Given the description of an element on the screen output the (x, y) to click on. 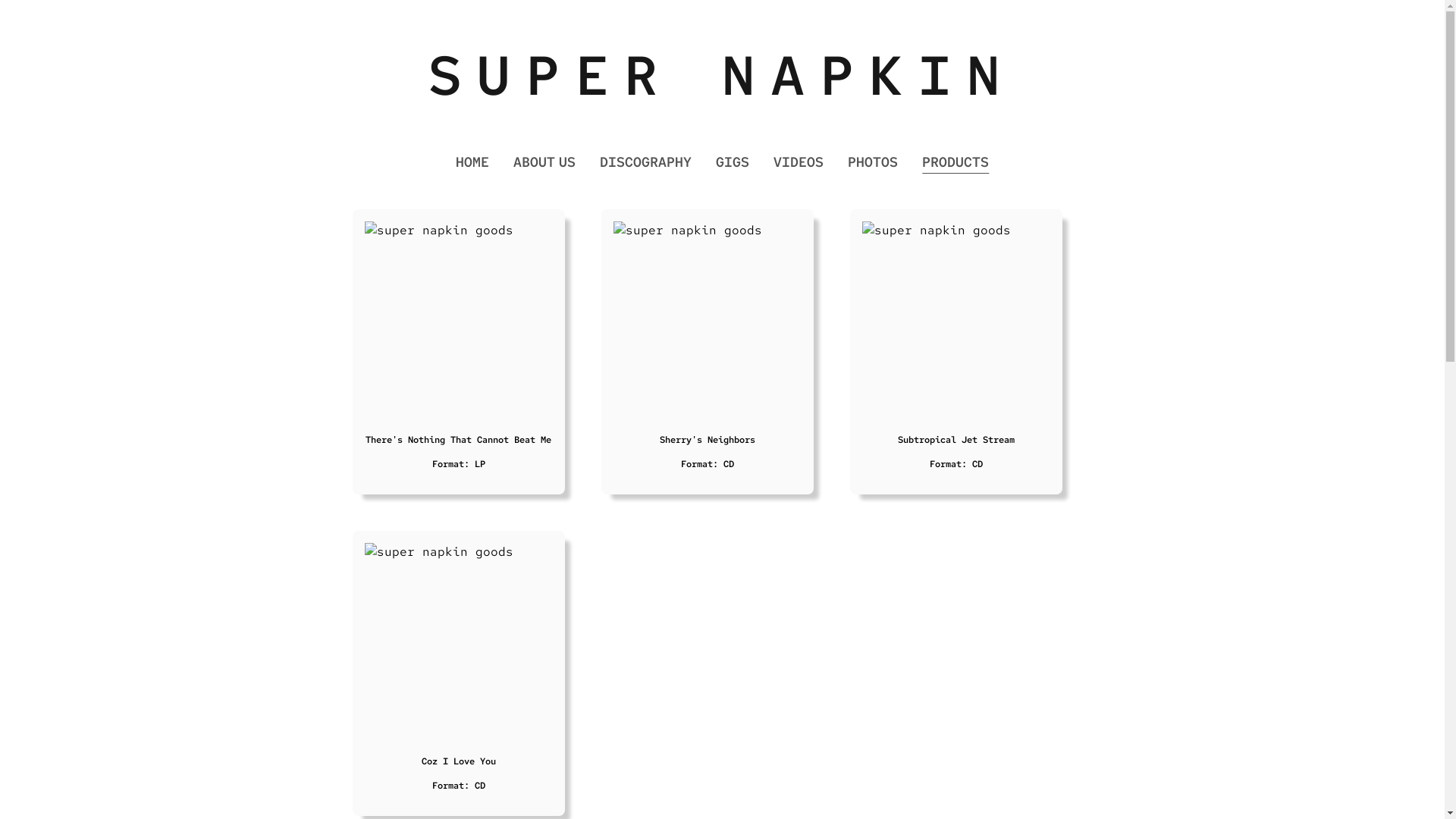
GIGS Element type: text (732, 162)
VIDEOS Element type: text (798, 162)
HOME Element type: text (472, 162)
DISCOGRAPHY Element type: text (645, 162)
PHOTOS Element type: text (872, 162)
PRODUCTS Element type: text (955, 162)
ABOUT US Element type: text (544, 162)
